Given the description of an element on the screen output the (x, y) to click on. 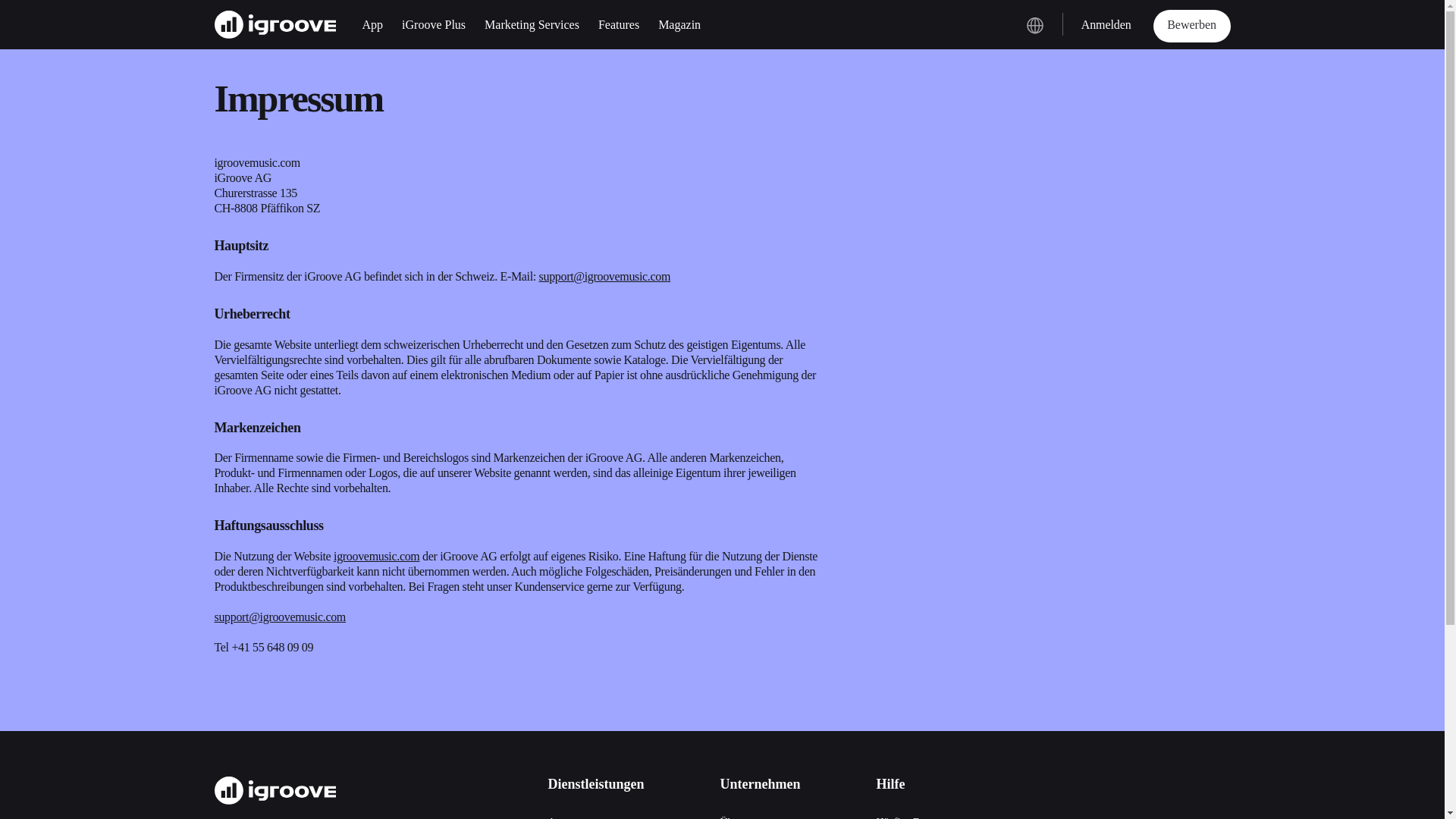
App (373, 24)
Features (618, 24)
App (556, 817)
iGroove Plus (433, 24)
igroovemusic.com (376, 555)
Magazin (679, 24)
Bewerben (1191, 25)
Marketing Services (531, 24)
Anmelden (1106, 24)
